Given the description of an element on the screen output the (x, y) to click on. 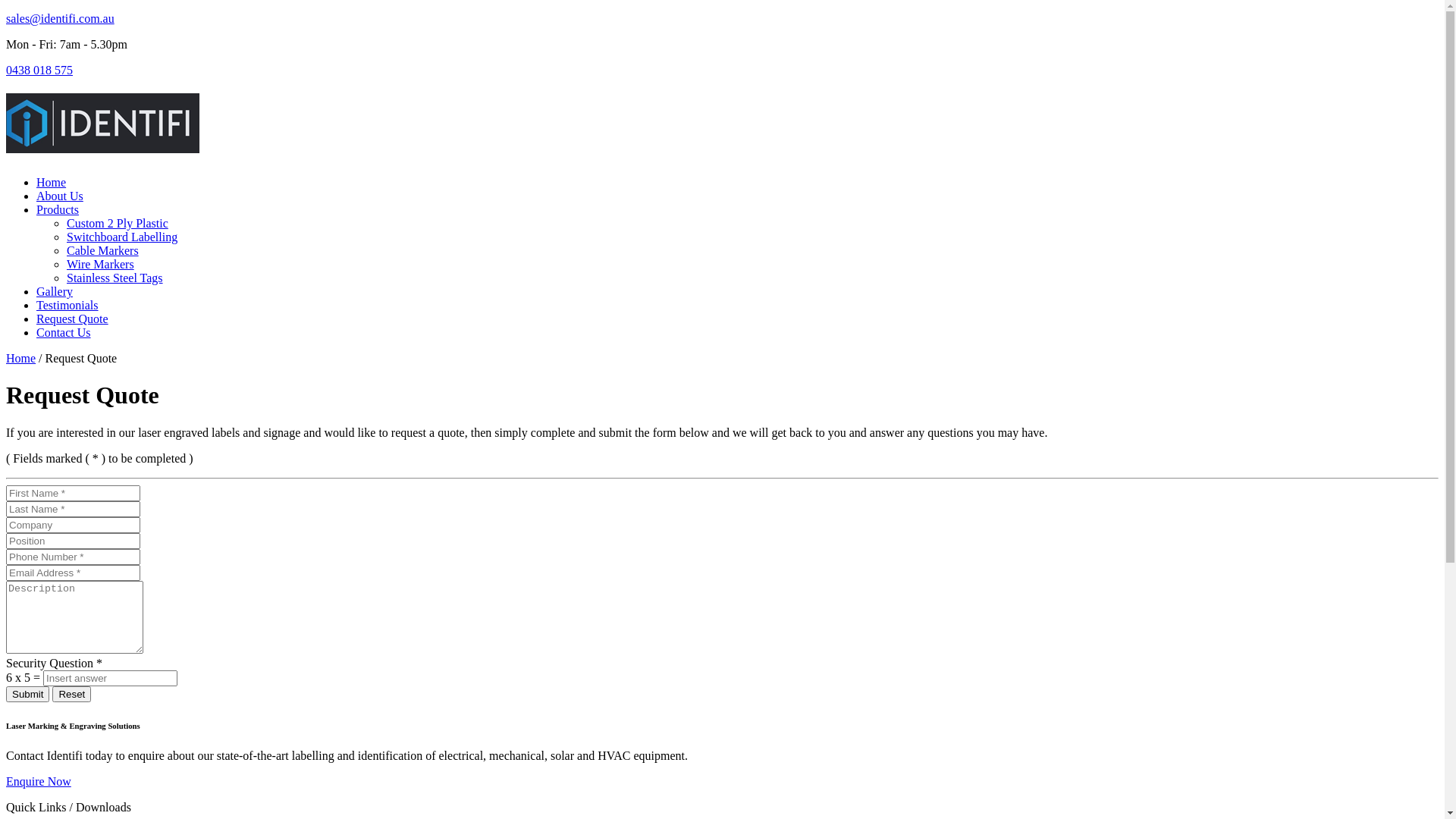
Home Element type: text (50, 181)
About Us Element type: text (59, 195)
Custom 2 Ply Plastic Element type: text (117, 222)
Stainless Steel Tags Element type: text (114, 277)
Enquire Now Element type: text (38, 781)
Products Element type: text (57, 209)
Cable Markers Element type: text (102, 250)
0438 018 575 Element type: text (39, 69)
Switchboard Labelling Element type: text (121, 236)
Reset Element type: text (71, 694)
Request Quote Element type: text (72, 318)
Wire Markers Element type: text (100, 263)
Gallery Element type: text (54, 291)
Contact Us Element type: text (63, 332)
Submit Element type: text (27, 694)
sales@identifi.com.au Element type: text (60, 18)
Testimonials Element type: text (67, 304)
Home Element type: text (20, 357)
